Given the description of an element on the screen output the (x, y) to click on. 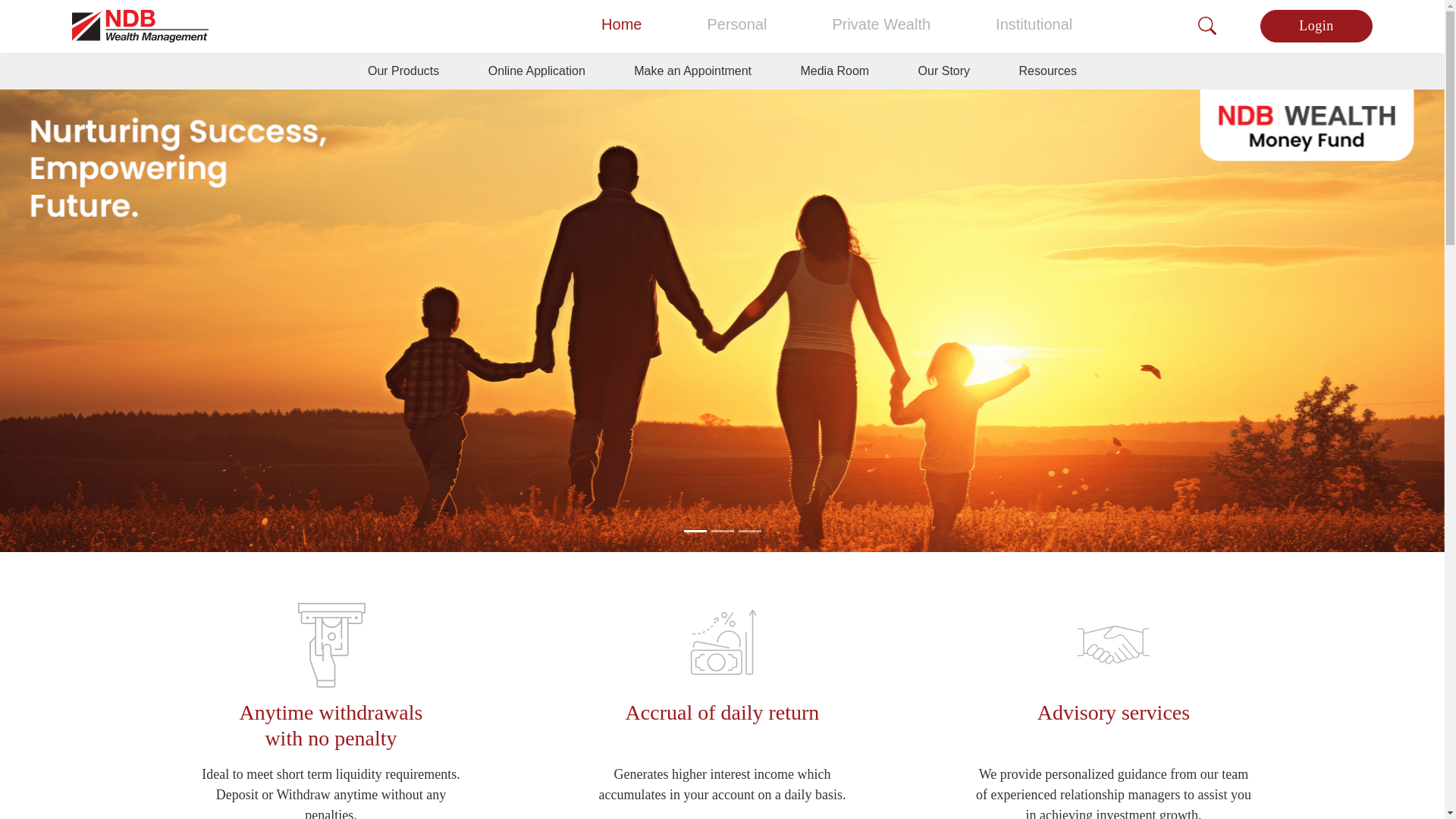
Resources (1048, 71)
Our Story (943, 71)
Online Application (536, 71)
Private Wealth (880, 24)
Our Products (403, 71)
Institutional (1034, 24)
Personal (736, 24)
Login (1316, 25)
Media Room (833, 71)
Home (621, 24)
Make an Appointment (692, 71)
